Given the description of an element on the screen output the (x, y) to click on. 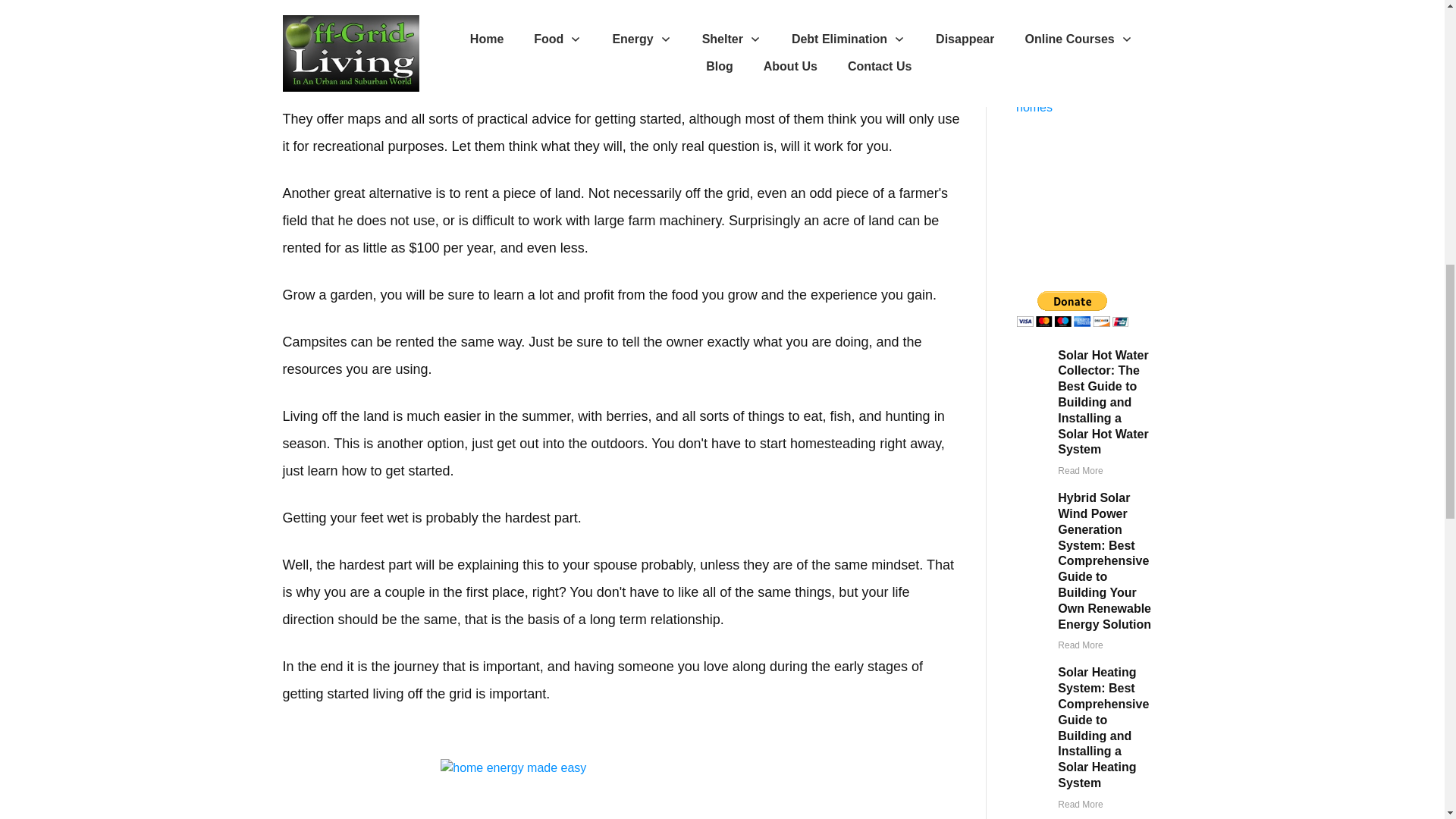
PayPal - The safer, easier way to pay online! (1072, 308)
tiny house (1083, 32)
udemy-course-graphic (623, 789)
